Given the description of an element on the screen output the (x, y) to click on. 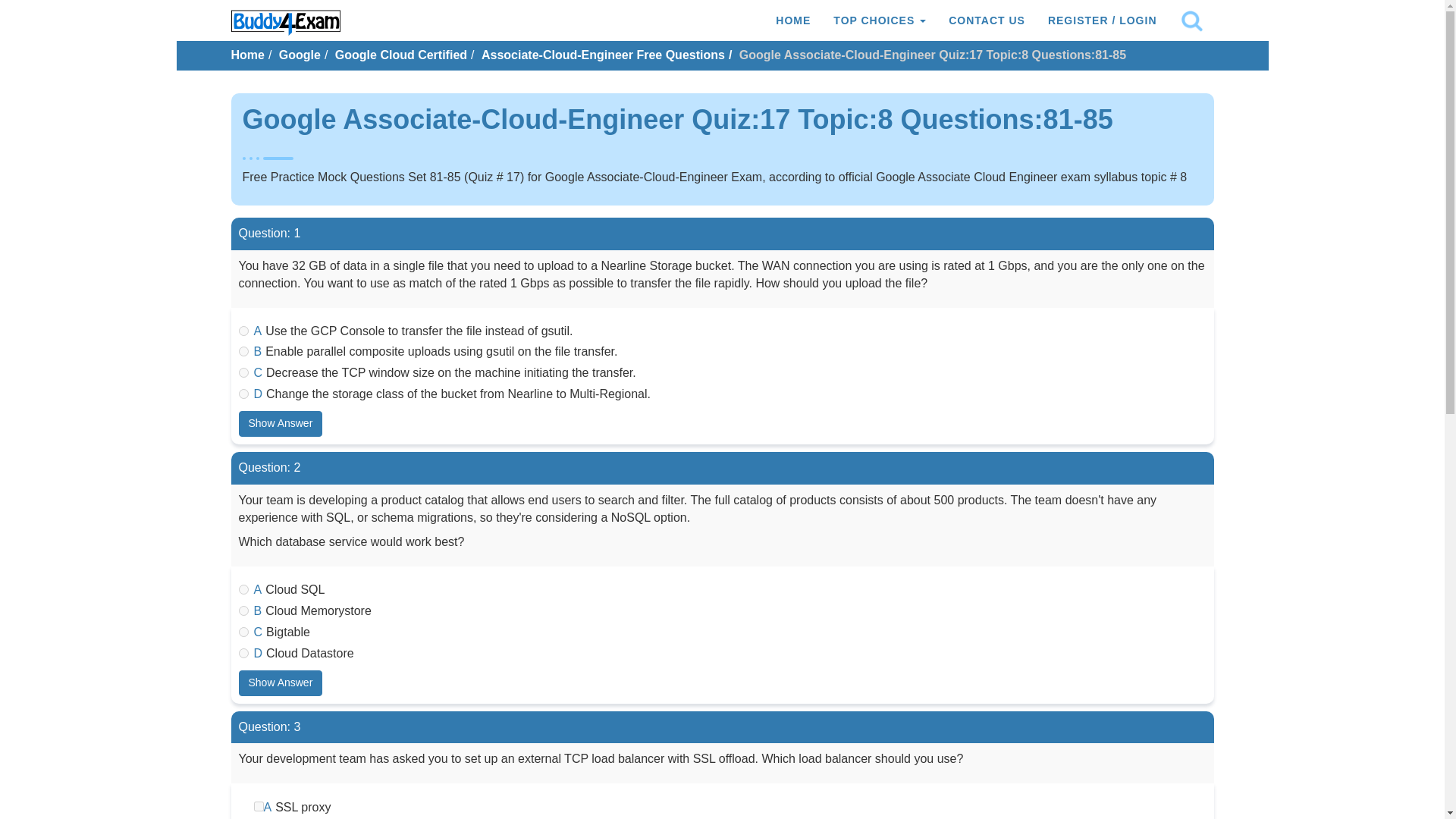
A (258, 806)
D (242, 393)
C (242, 372)
A (242, 330)
TOP CHOICES (879, 20)
C (242, 632)
A (242, 589)
Google Cloud Certified (400, 54)
B (242, 610)
CONTACT US (986, 20)
